Given the description of an element on the screen output the (x, y) to click on. 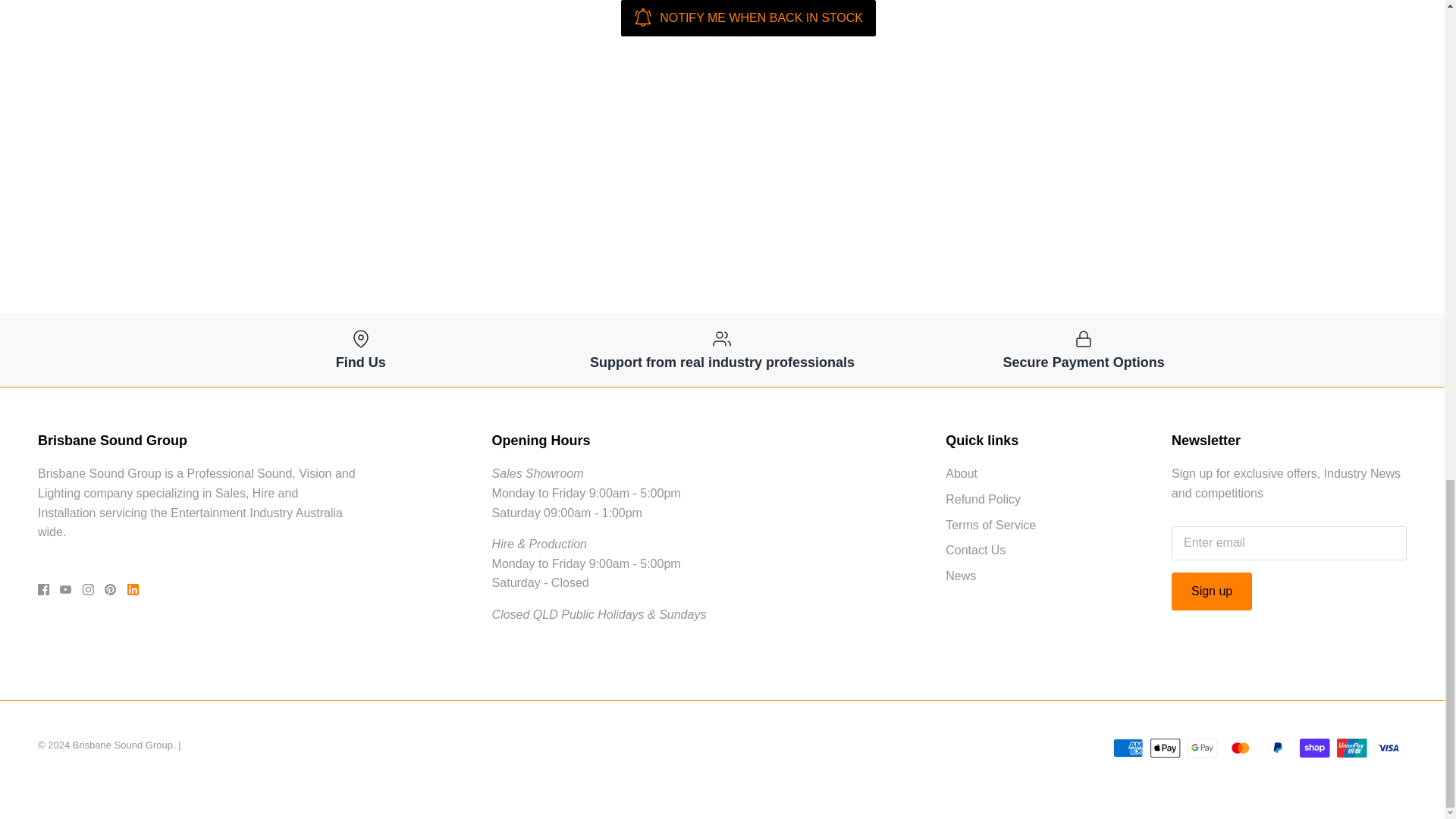
American Express (1127, 747)
Apple Pay (1165, 747)
Pinterest (110, 589)
Facebook (43, 589)
Instagram (88, 589)
Youtube (65, 589)
